Given the description of an element on the screen output the (x, y) to click on. 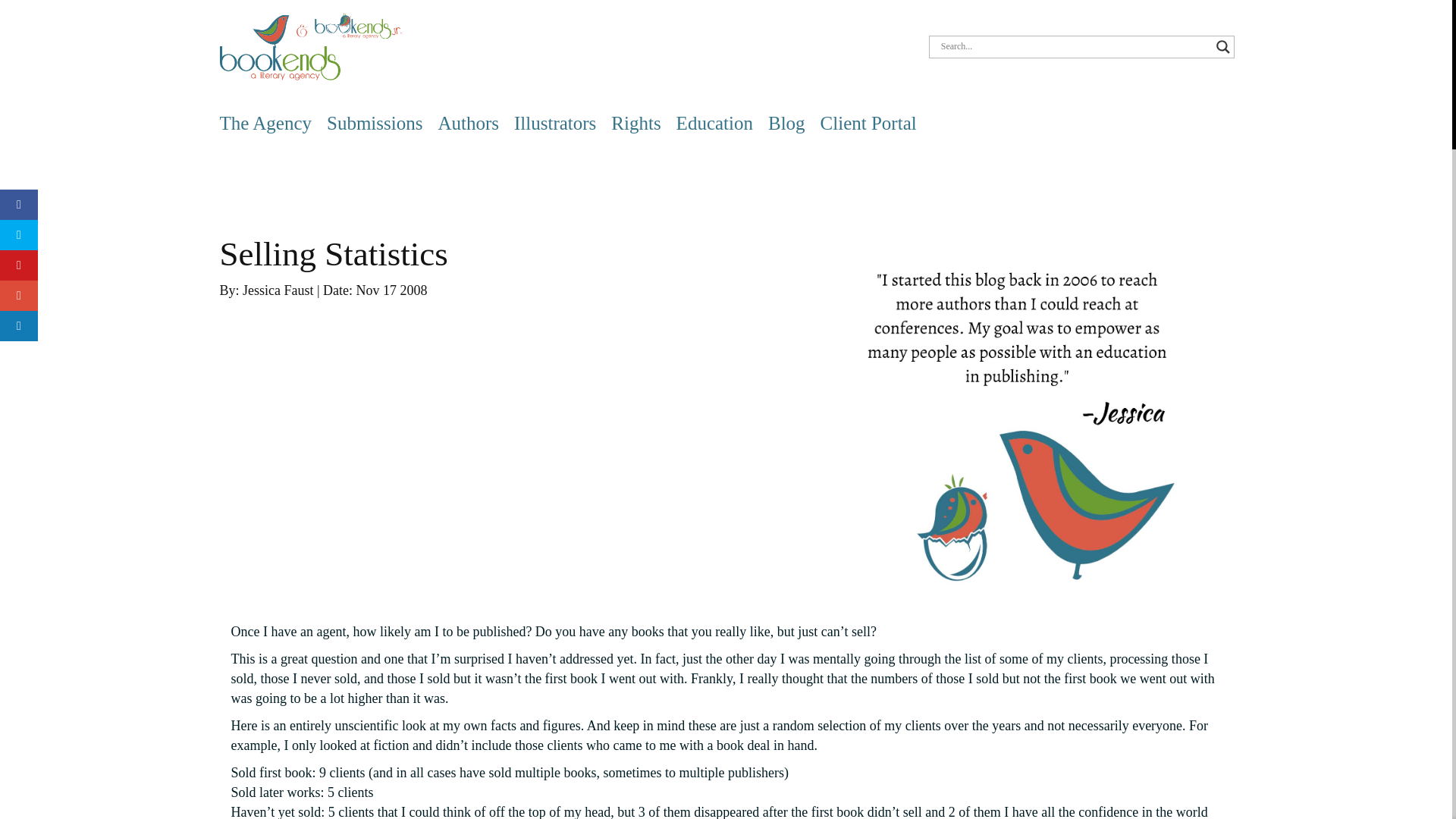
Submissions (374, 123)
Illustrators (554, 123)
BookEnds Literary Agency (310, 46)
Education (714, 123)
Blog (786, 123)
Client Portal (869, 123)
The Agency (265, 123)
Authors (468, 123)
Rights (636, 123)
